Given the description of an element on the screen output the (x, y) to click on. 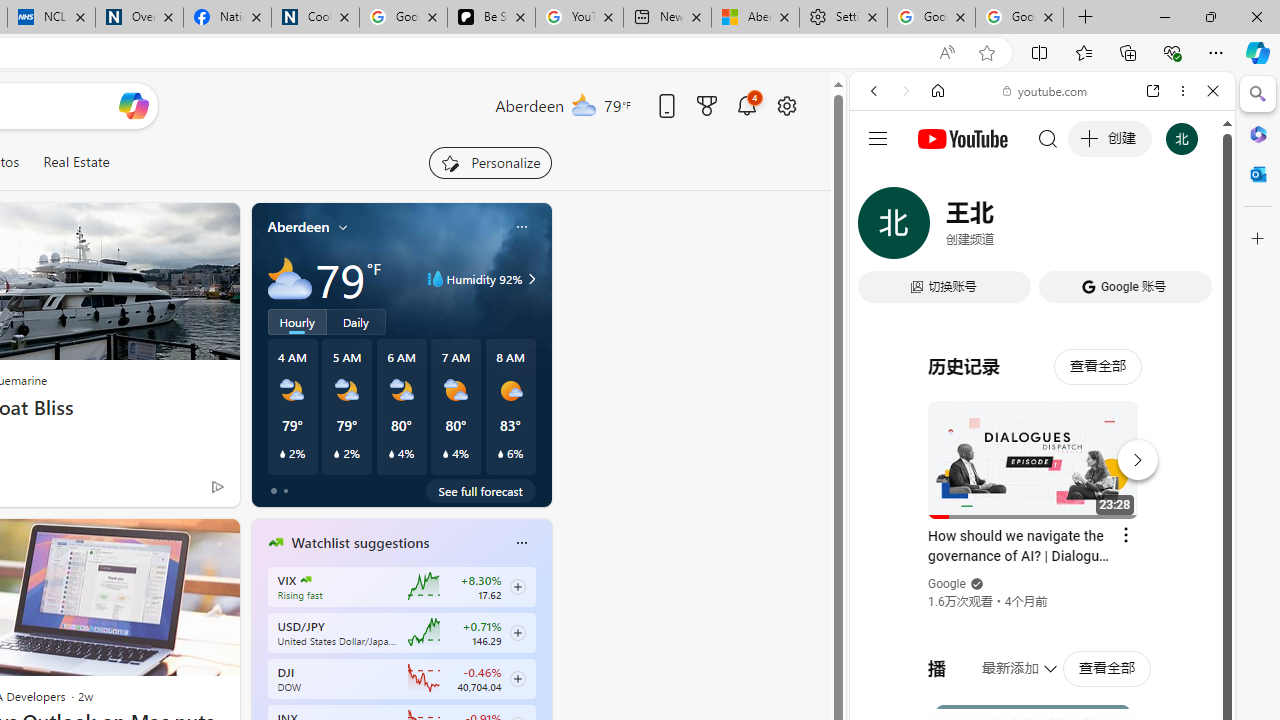
Notifications (746, 105)
YouTube (1034, 296)
Class: icon-img (521, 542)
tab-0 (273, 490)
Google (947, 584)
Hourly (296, 321)
Class: weather-arrow-glyph (531, 278)
Favorites (1083, 52)
Humidity 92% (529, 278)
Aberdeen, Hong Kong SAR hourly forecast | Microsoft Weather (754, 17)
Search Filter, WEB (882, 228)
